Given the description of an element on the screen output the (x, y) to click on. 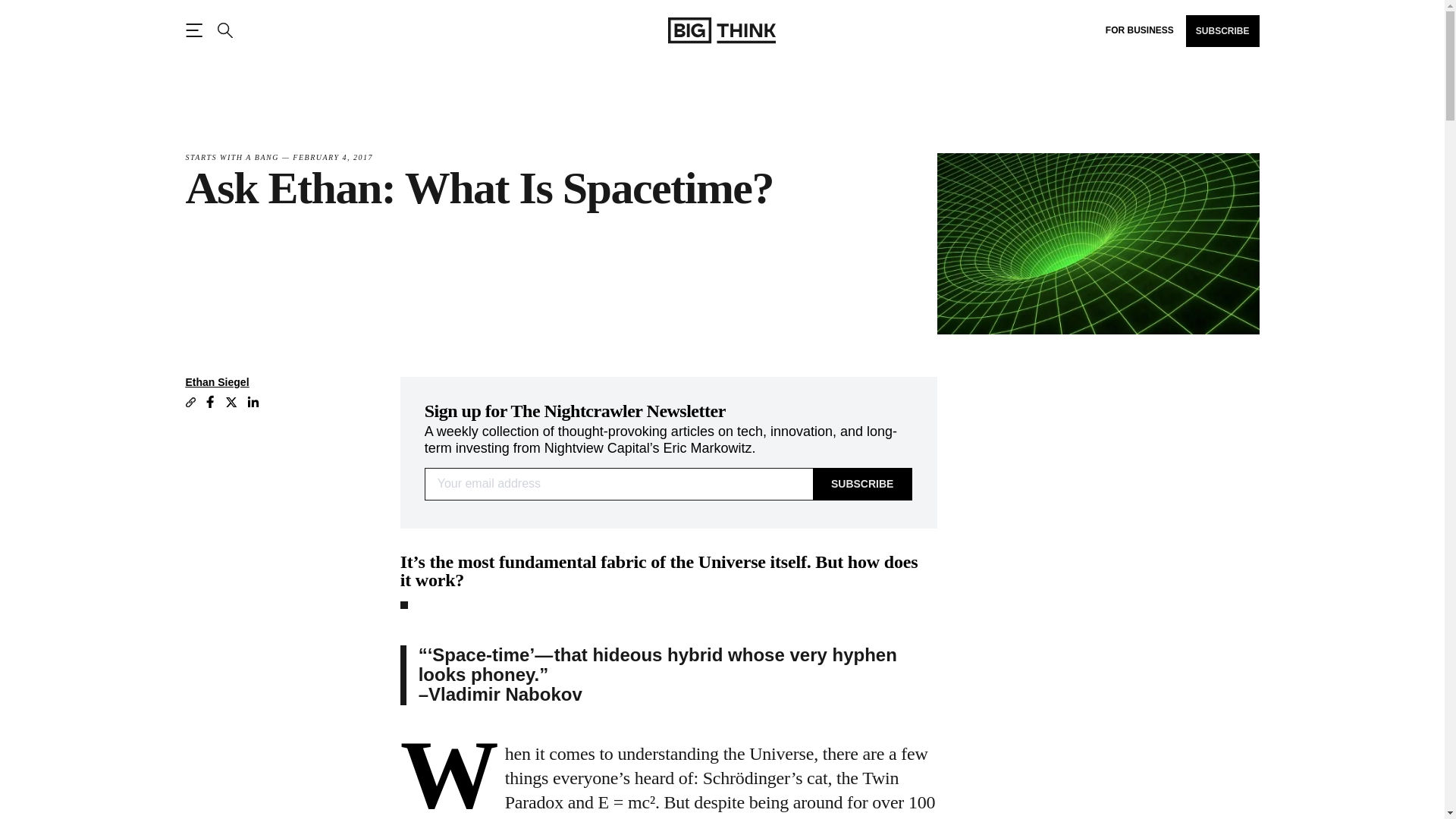
Subscribe (862, 483)
